Given the description of an element on the screen output the (x, y) to click on. 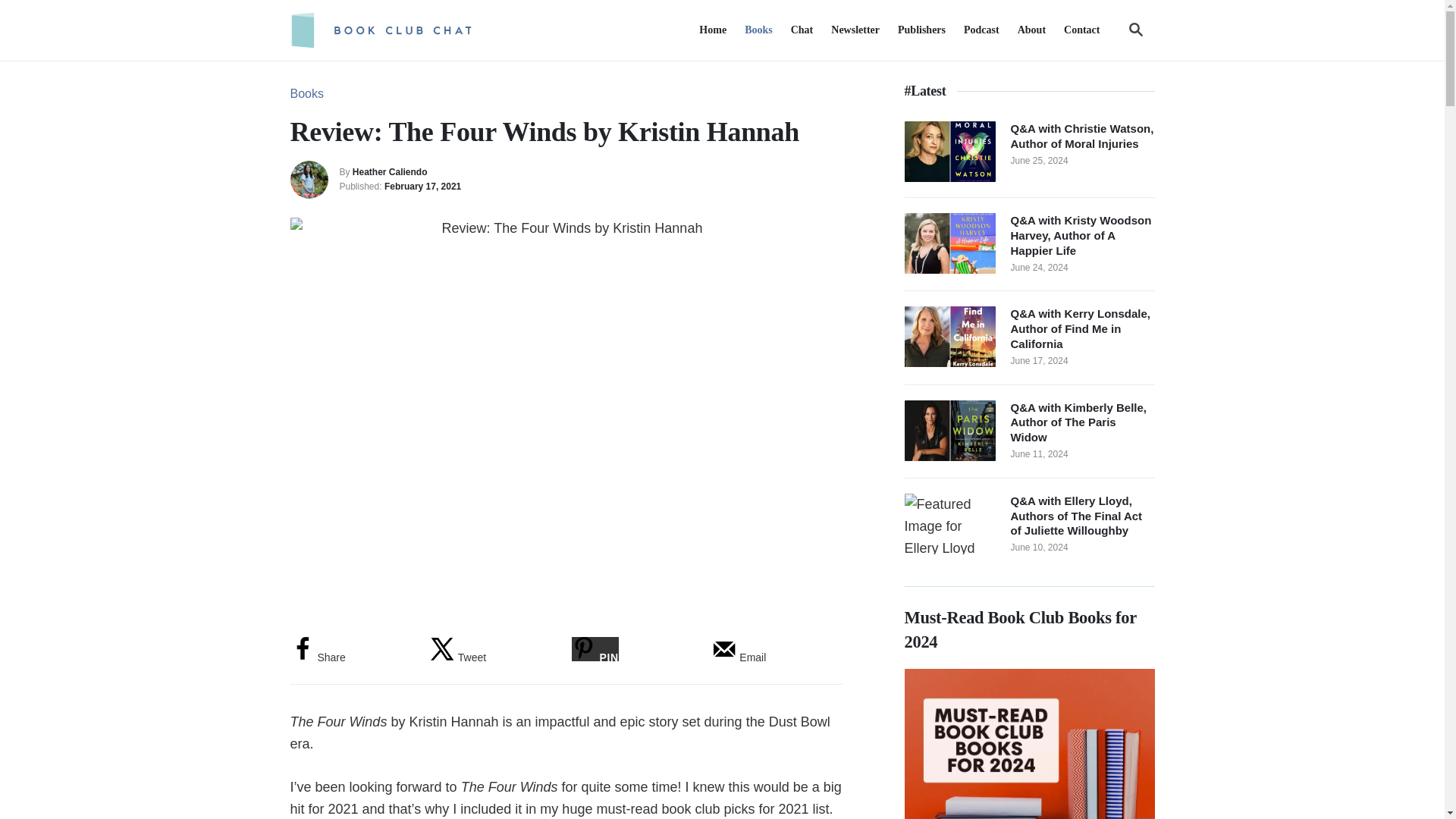
Book Club Chat (418, 30)
Books (758, 29)
Podcast (982, 29)
Send over email (738, 657)
Heather Caliendo (390, 172)
Email (738, 657)
Publishers (921, 29)
Chat (801, 29)
Books (306, 92)
About (1031, 29)
Share on X (458, 657)
Share on Facebook (317, 657)
Newsletter (855, 29)
MAGNIFYING GLASS (1135, 29)
Tweet (458, 657)
